Given the description of an element on the screen output the (x, y) to click on. 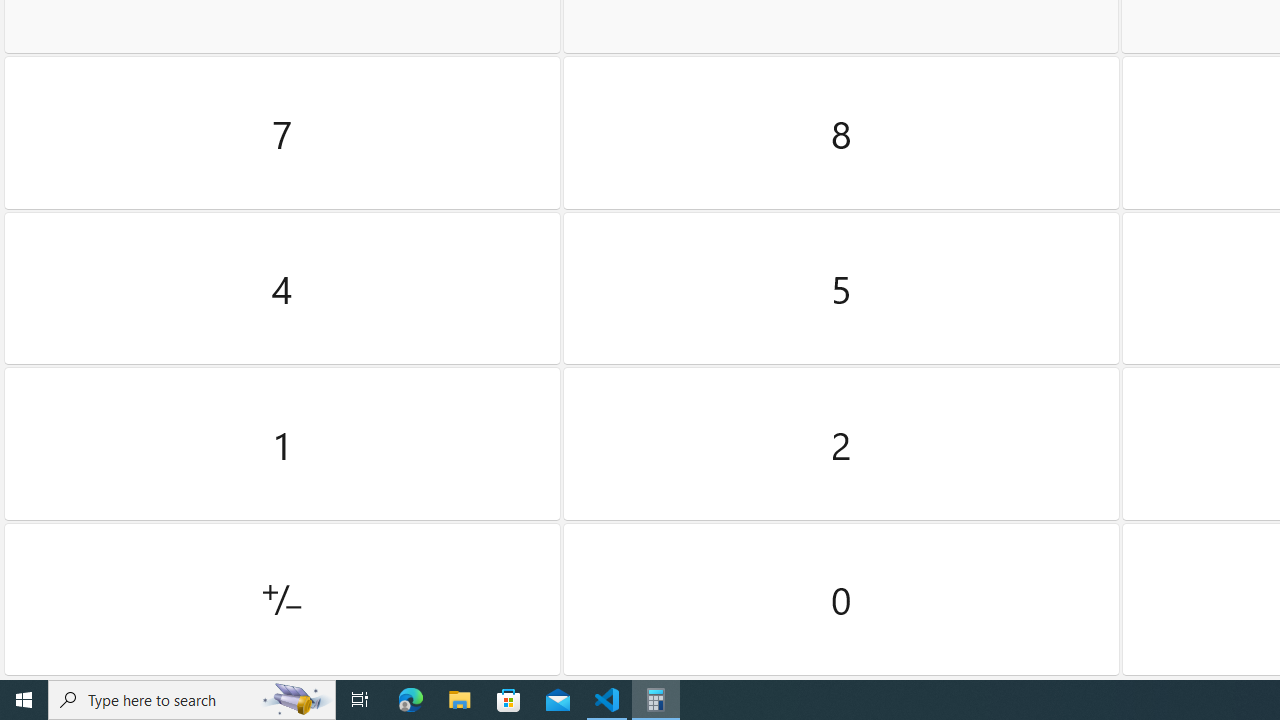
Microsoft Store (509, 699)
Eight (841, 133)
Search highlights icon opens search home window (295, 699)
One (281, 444)
Positive negative (281, 599)
Four (281, 288)
Microsoft Edge (411, 699)
Type here to search (191, 699)
File Explorer (460, 699)
Calculator - 1 running window (656, 699)
Two (841, 444)
Visual Studio Code - 1 running window (607, 699)
Start (24, 699)
Zero (841, 599)
